Given the description of an element on the screen output the (x, y) to click on. 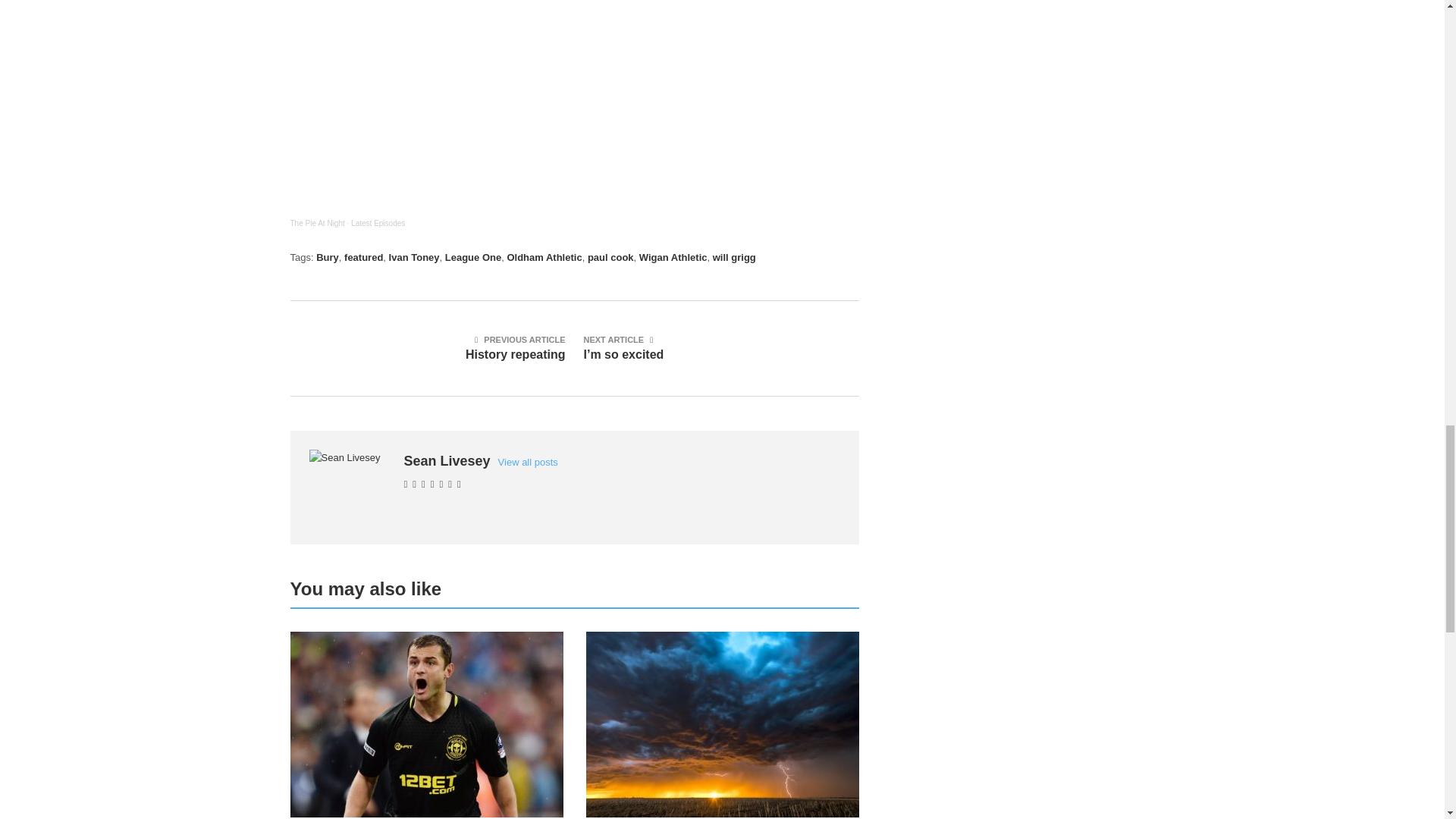
The Pie At Night (316, 223)
Latest Episodes (377, 223)
